Given the description of an element on the screen output the (x, y) to click on. 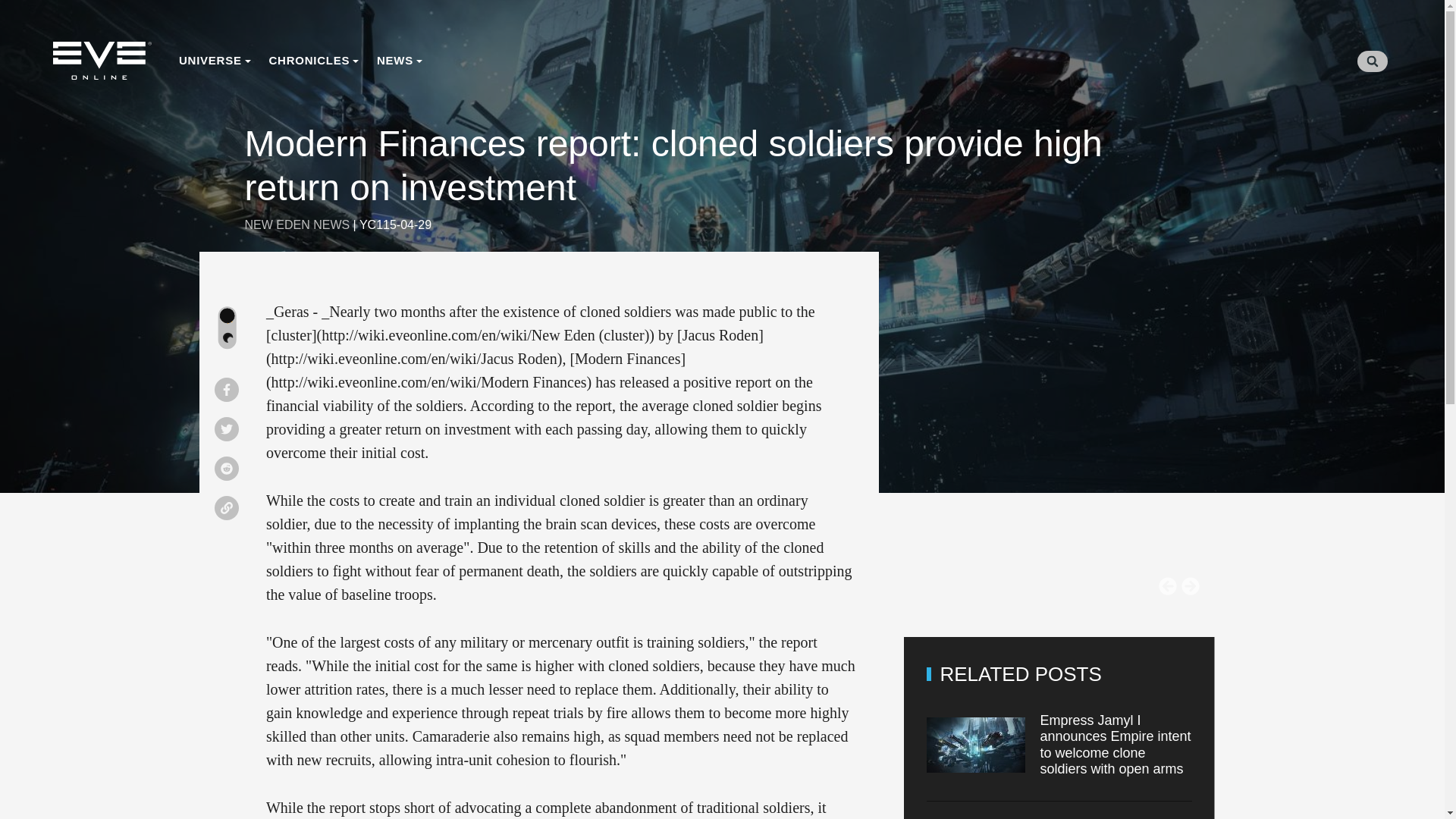
NEW EDEN NEWS (296, 224)
NEWS (399, 60)
CHRONICLES (312, 60)
Home (101, 60)
UNIVERSE (215, 60)
